Given the description of an element on the screen output the (x, y) to click on. 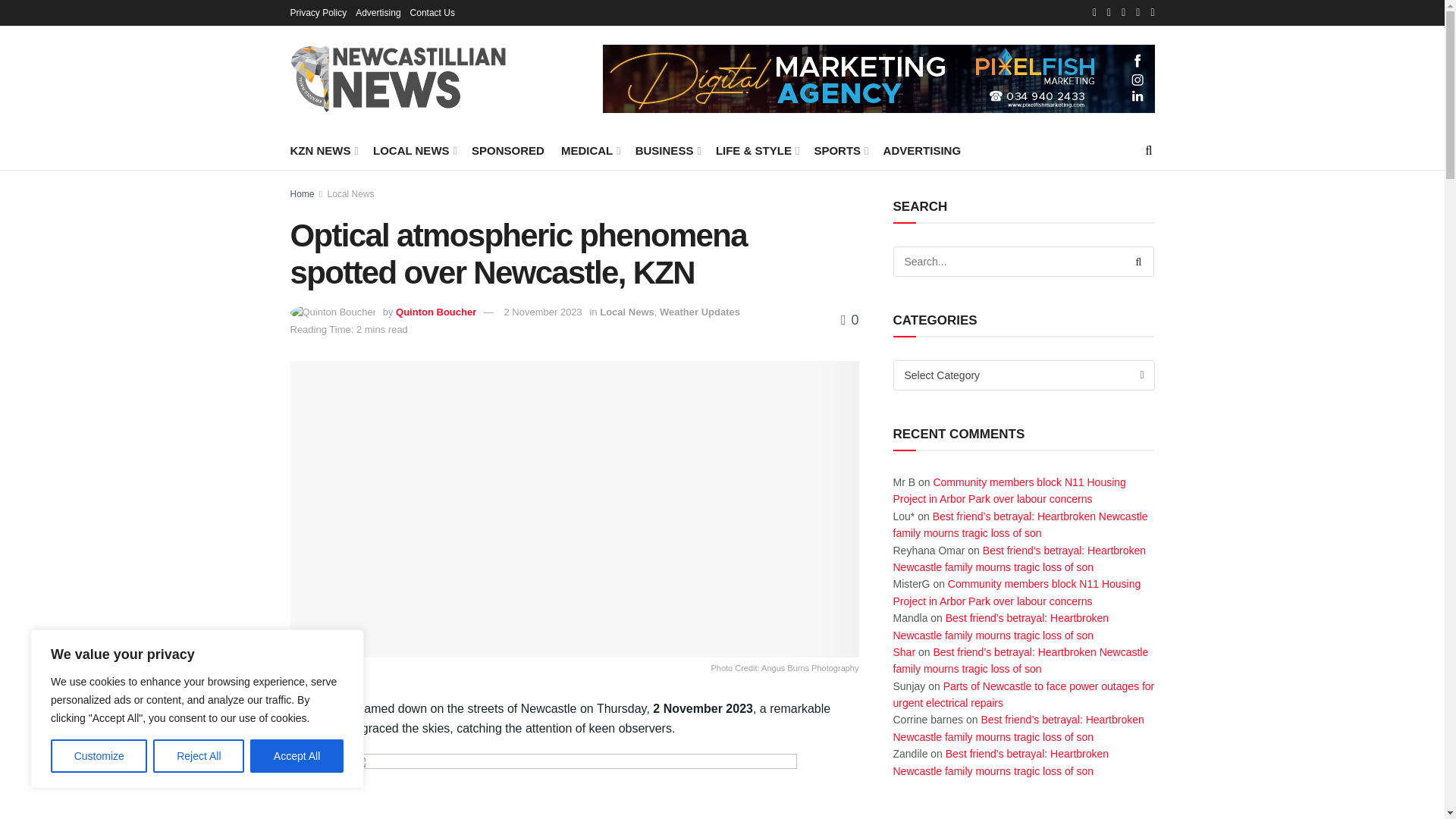
Privacy Policy (317, 12)
Advertising (377, 12)
KZN NEWS (322, 150)
Accept All (296, 756)
Customize (98, 756)
Reject All (198, 756)
Contact Us (432, 12)
LOCAL NEWS (413, 150)
MEDICAL (589, 150)
SPONSORED (507, 150)
